Given the description of an element on the screen output the (x, y) to click on. 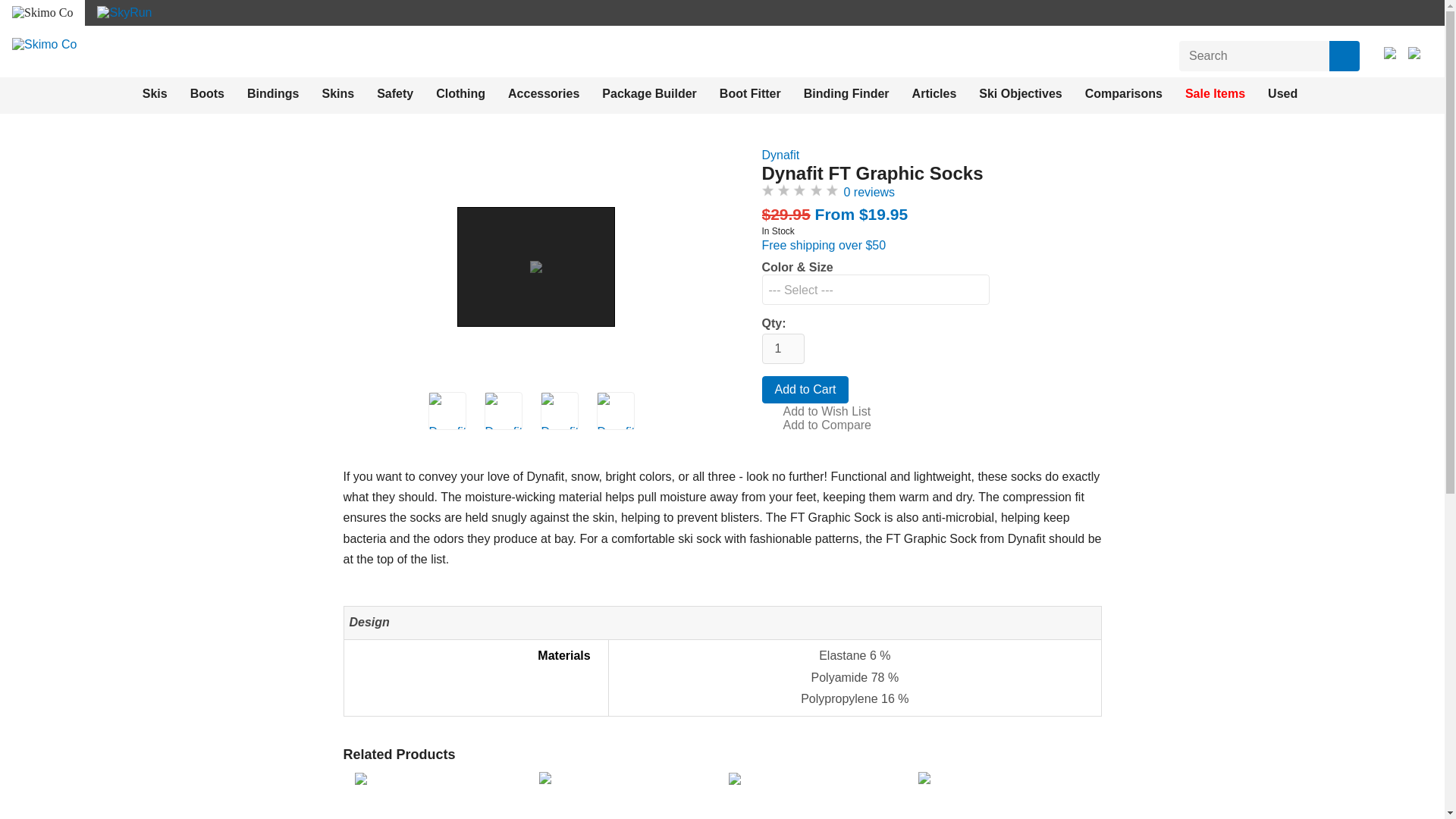
Dynafit FT Graphic Socks (502, 411)
1 (782, 348)
Bindings (272, 93)
Safety (395, 93)
Skis (154, 93)
Dynafit FT Graphic Socks (614, 410)
Skimo Co (44, 44)
Clothing (459, 93)
Dynafit FT Graphic Socks (502, 410)
Search (1344, 55)
Dynafit FT Graphic Socks (559, 411)
Dynafit FT Graphic Socks (535, 264)
Boots (207, 93)
Dynafit FT Graphic Socks (446, 410)
Skins (337, 93)
